Given the description of an element on the screen output the (x, y) to click on. 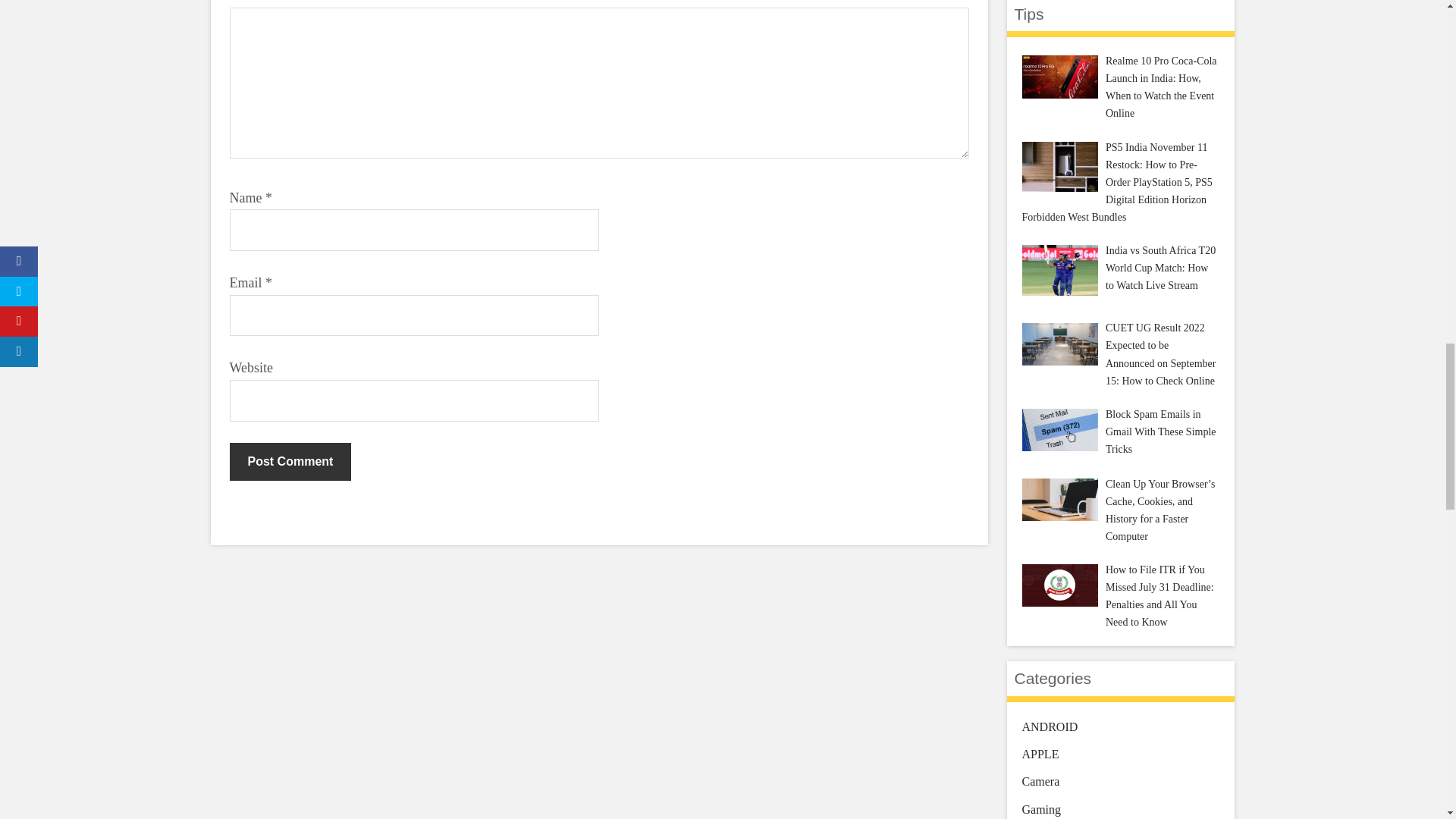
Post Comment (289, 461)
